Given the description of an element on the screen output the (x, y) to click on. 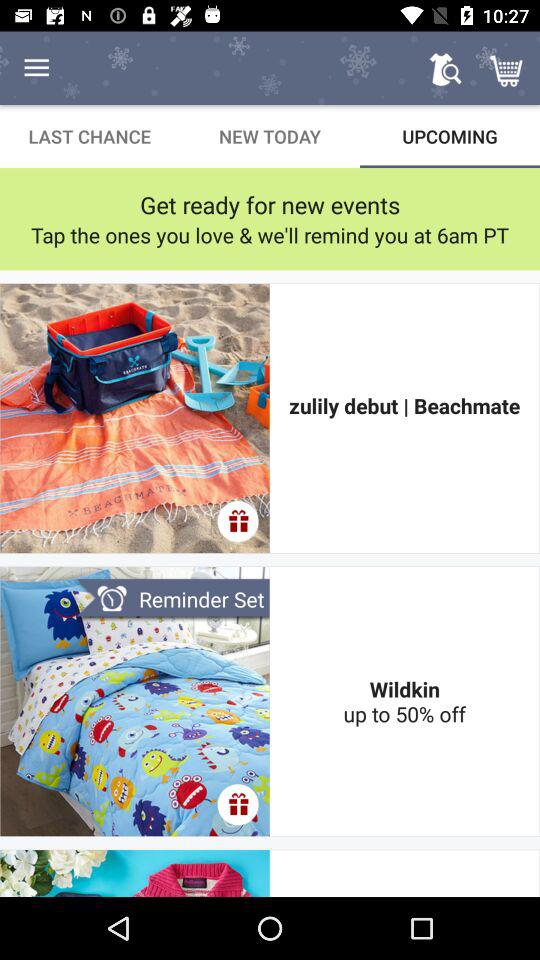
open zulily debut | beachmate
 icon (404, 418)
